Given the description of an element on the screen output the (x, y) to click on. 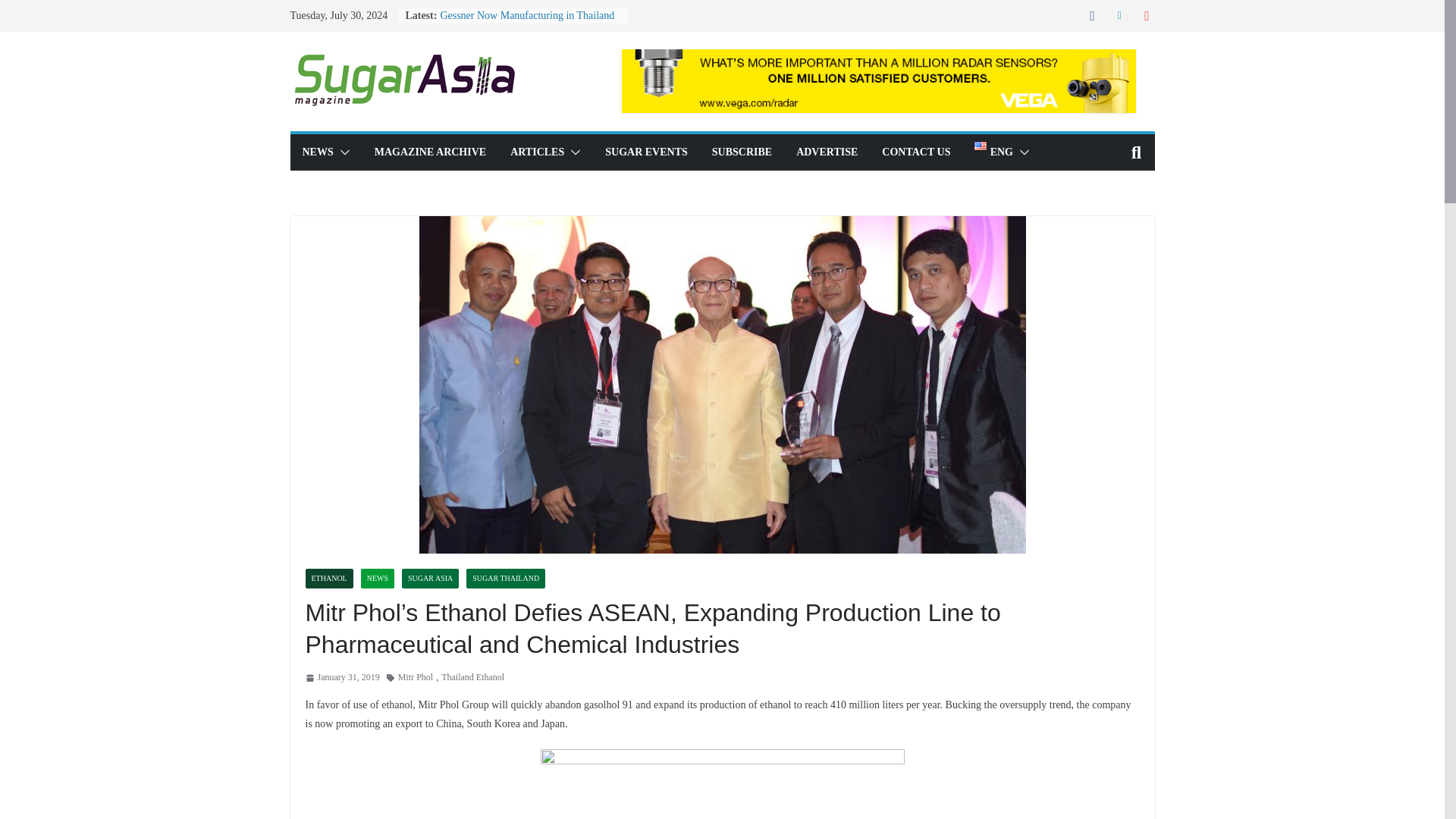
ENG (993, 151)
Gessner Now Manufacturing in Thailand (526, 15)
ARTICLES (537, 151)
SUBSCRIBE (741, 151)
CONTACT US (916, 151)
MAGAZINE ARCHIVE (430, 151)
7:50 AM (341, 677)
ETHANOL (328, 578)
NEWS (377, 578)
SUGAR EVENTS (646, 151)
ADVERTISE (826, 151)
NEWS (317, 151)
Gessner Now Manufacturing in Thailand (526, 15)
Download This Theme (430, 151)
SUGAR ASIA (429, 578)
